Given the description of an element on the screen output the (x, y) to click on. 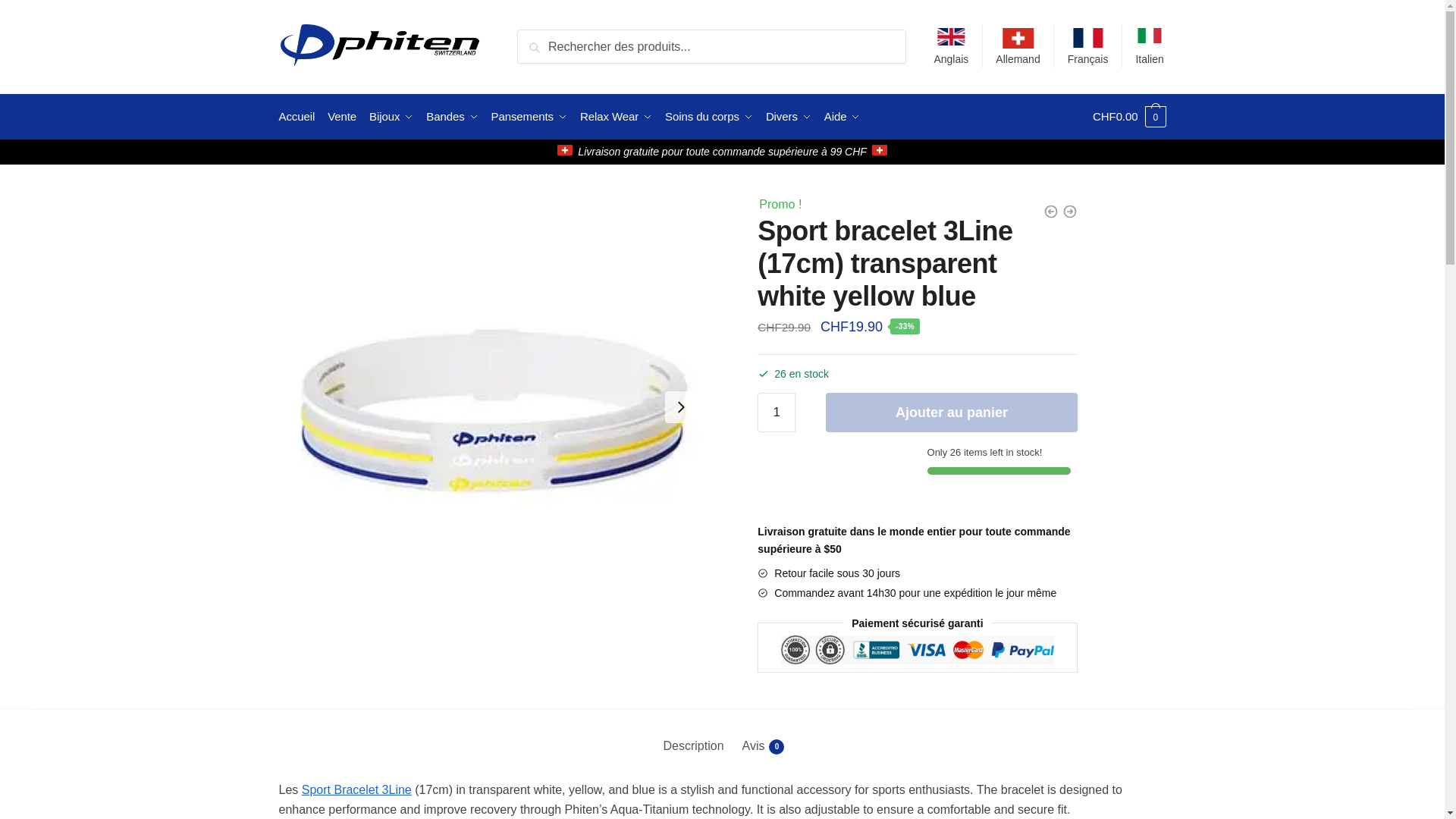
Relax Wear (616, 116)
Allemand (1018, 45)
Pansements (528, 116)
Anglais (950, 45)
Bandes (452, 116)
Recherche (550, 39)
1 (775, 412)
Voir votre panier d'achat (1129, 116)
Vente (341, 116)
Bijoux (391, 116)
Italien (1149, 45)
Accueil (300, 116)
